Given the description of an element on the screen output the (x, y) to click on. 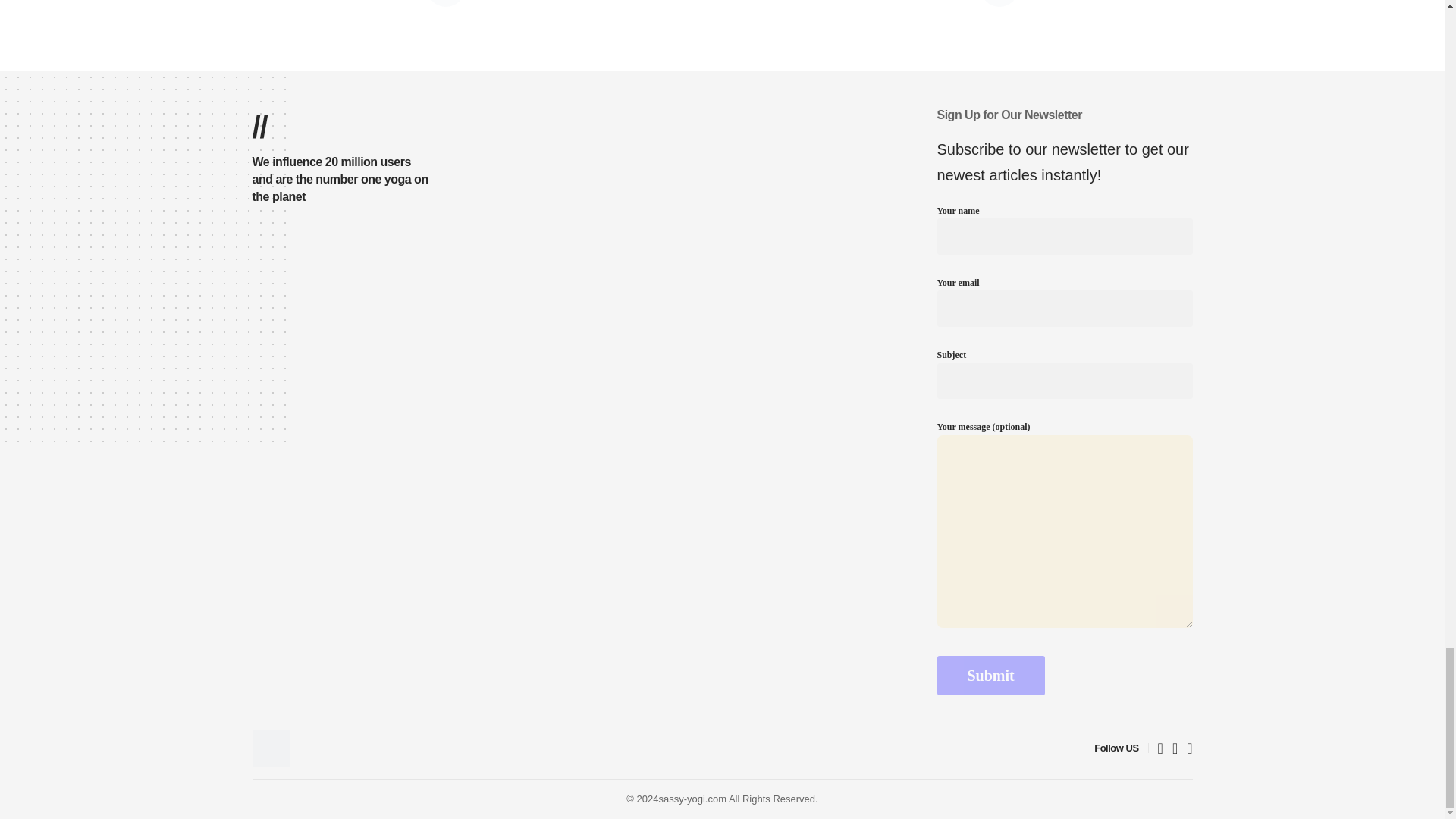
Health Advice (270, 748)
Submit (991, 675)
